Given the description of an element on the screen output the (x, y) to click on. 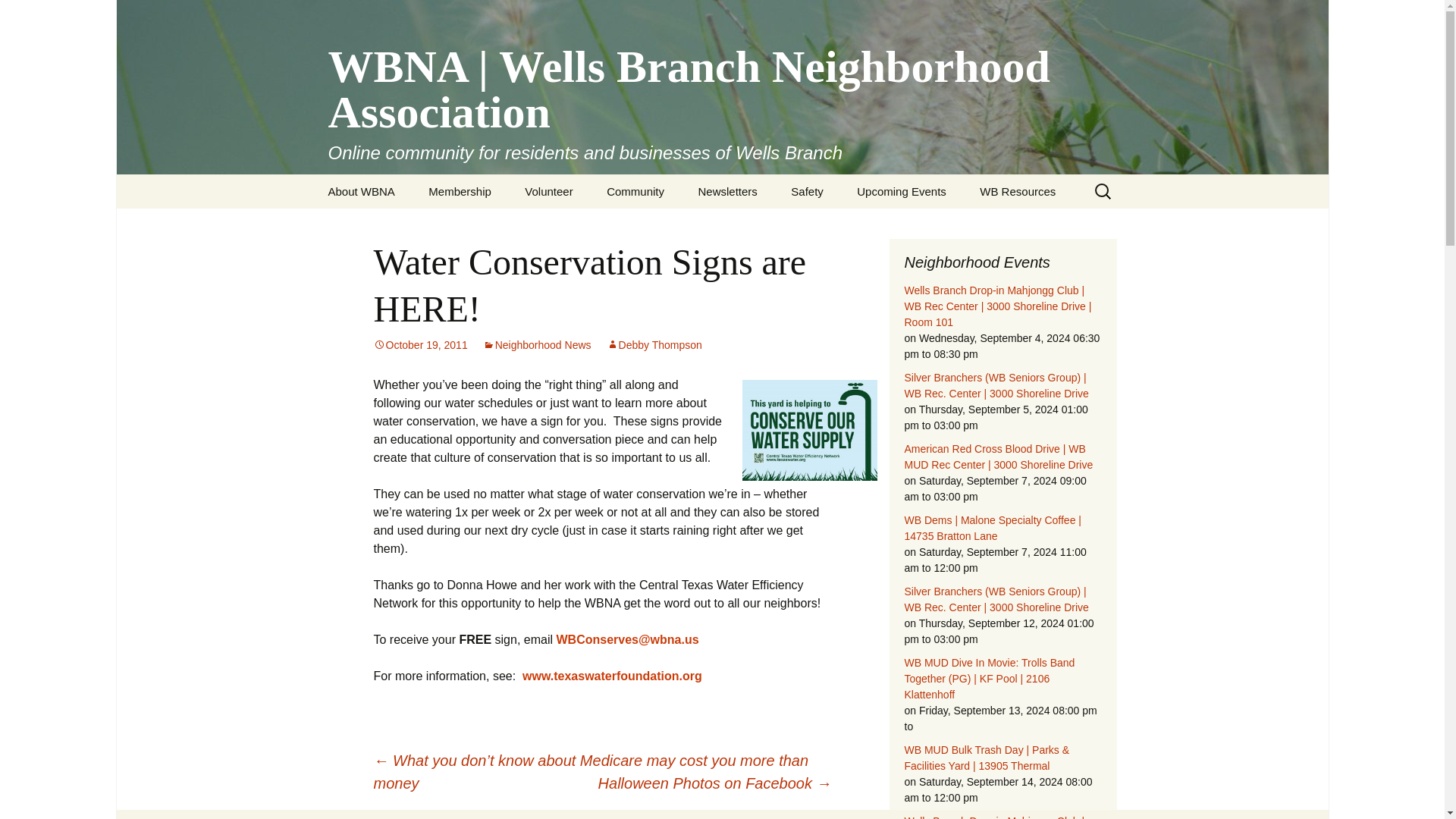
Permalink to Water Conservation Signs are HERE! (419, 345)
ThisYard-Final-Conservation Sign Web (808, 430)
Contact Us (388, 225)
www.texaswaterfoundation.org (611, 675)
Volunteer (548, 191)
Community (635, 191)
Membership (459, 191)
View all posts by Debby Thompson (654, 345)
